Given the description of an element on the screen output the (x, y) to click on. 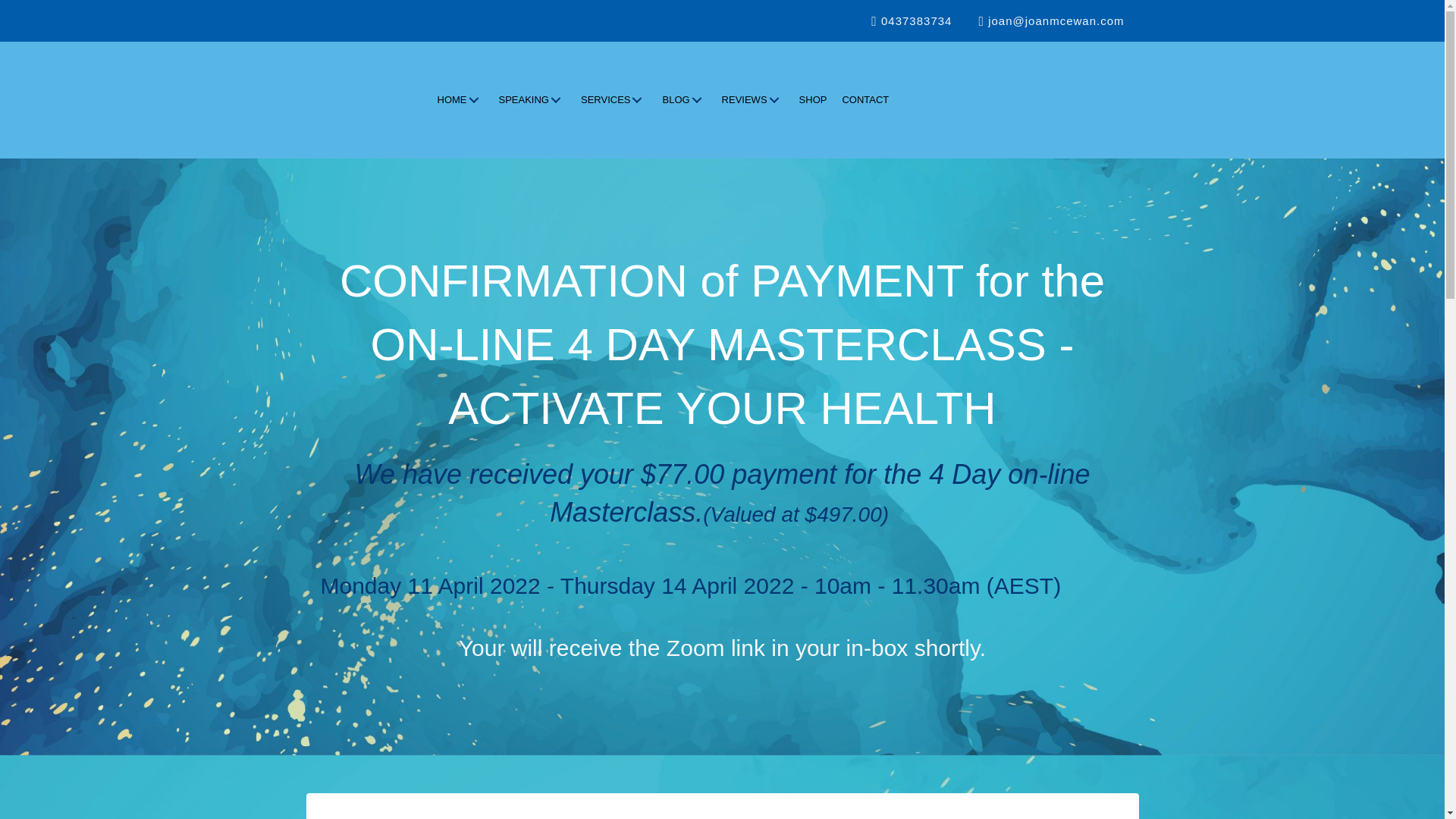
REVIEWS (753, 100)
HOME (459, 100)
SERVICES (614, 100)
SHOP (812, 100)
CONTACT (865, 100)
SPEAKING (532, 100)
0437383734 (909, 20)
BLOG (683, 100)
